Given the description of an element on the screen output the (x, y) to click on. 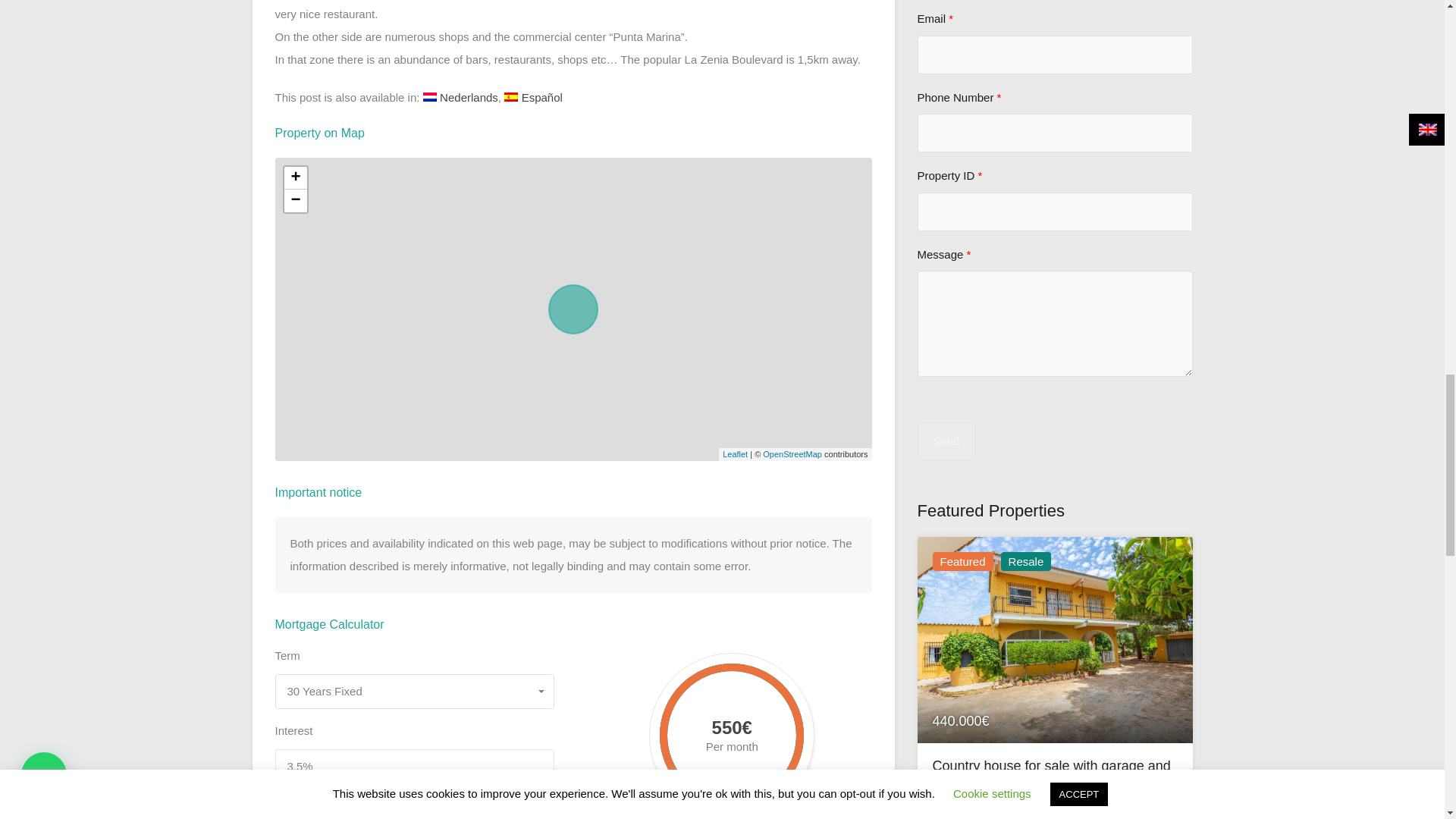
A JS library for interactive maps (735, 453)
Zoom in (294, 178)
3.5 (414, 793)
Zoom out (294, 200)
30 Years Fixed (414, 691)
